Given the description of an element on the screen output the (x, y) to click on. 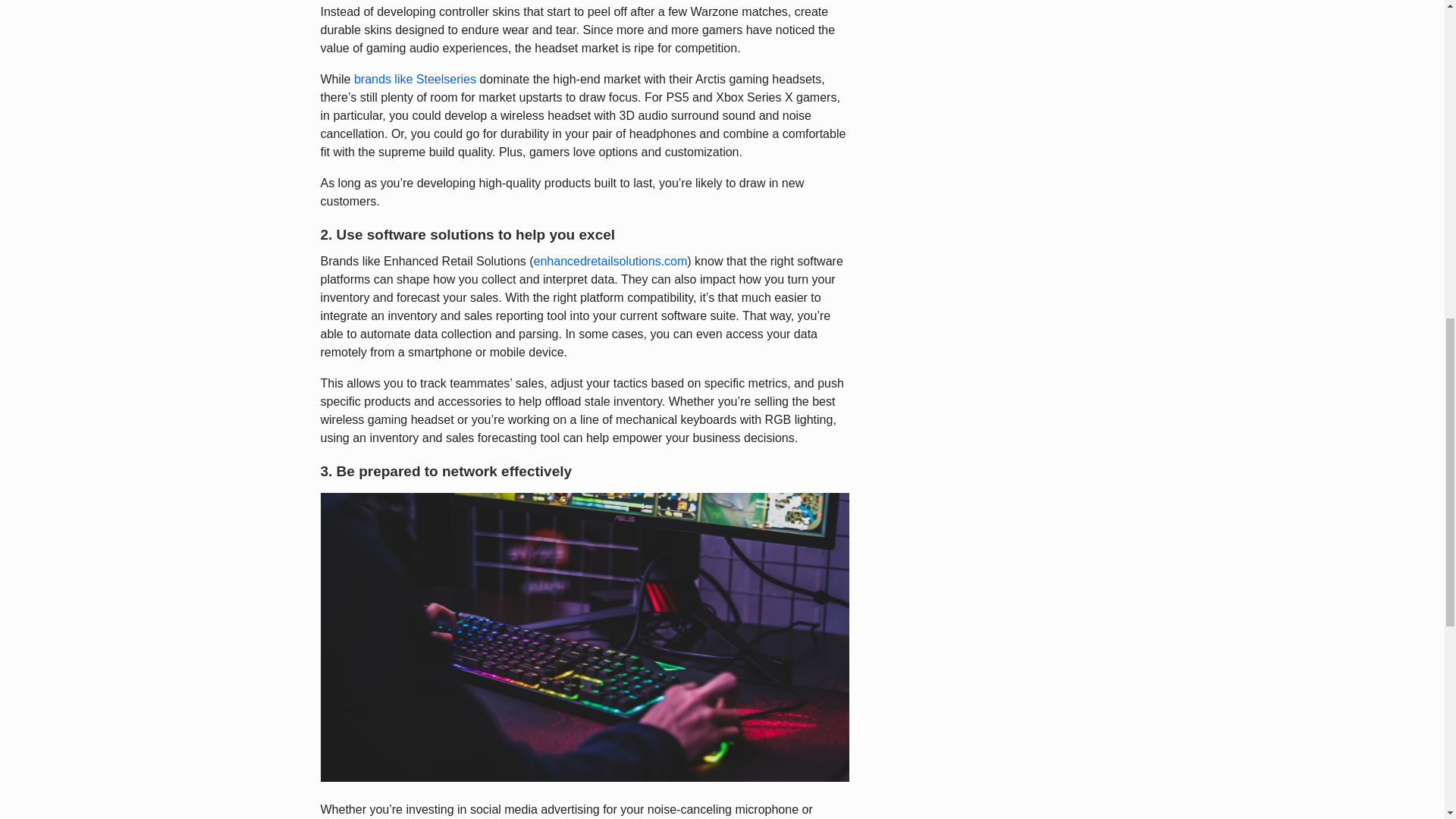
brands like Steelseries (414, 78)
enhancedretailsolutions.com (610, 260)
